Given the description of an element on the screen output the (x, y) to click on. 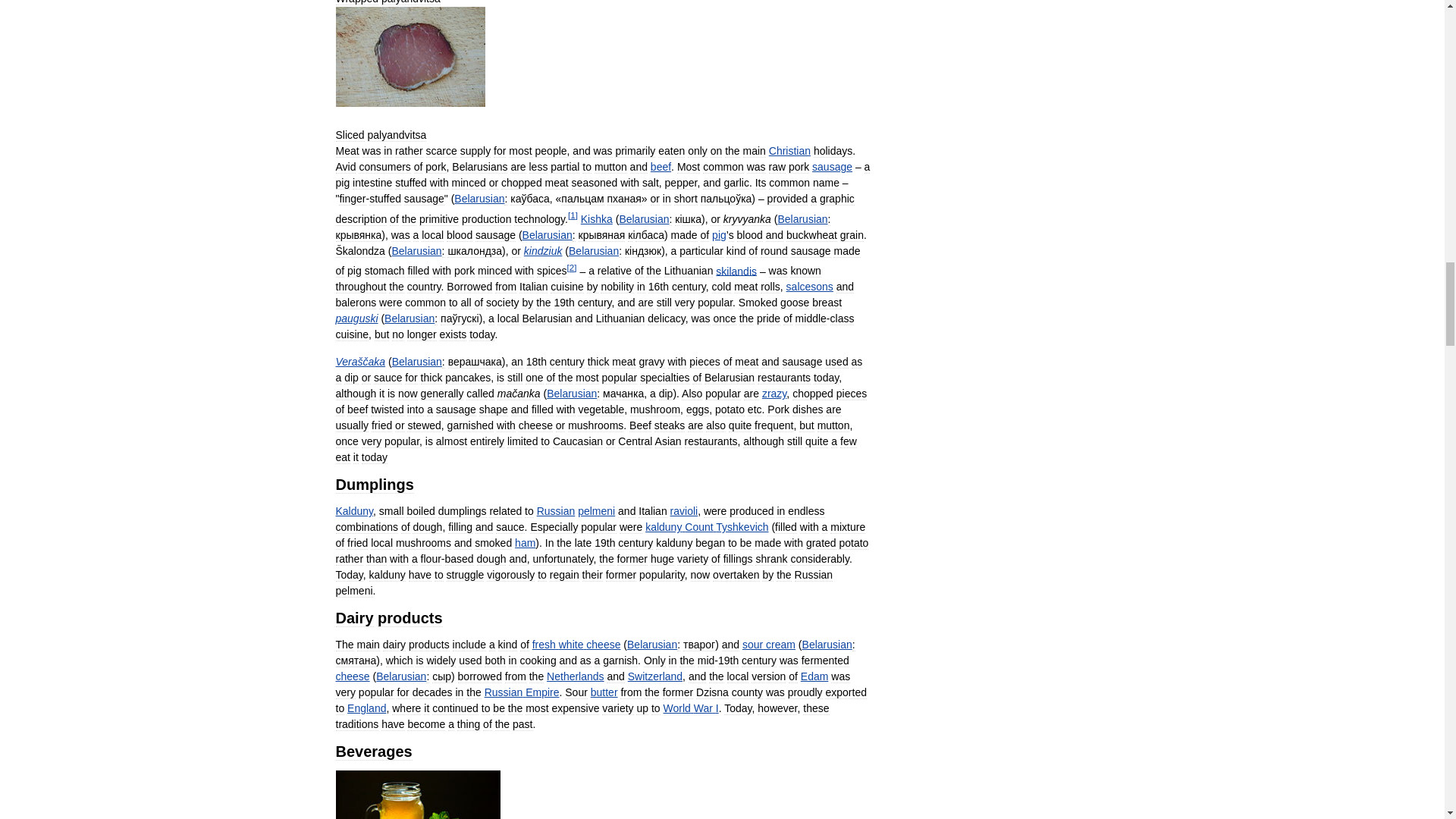
pl:kindziuk (543, 250)
